Given the description of an element on the screen output the (x, y) to click on. 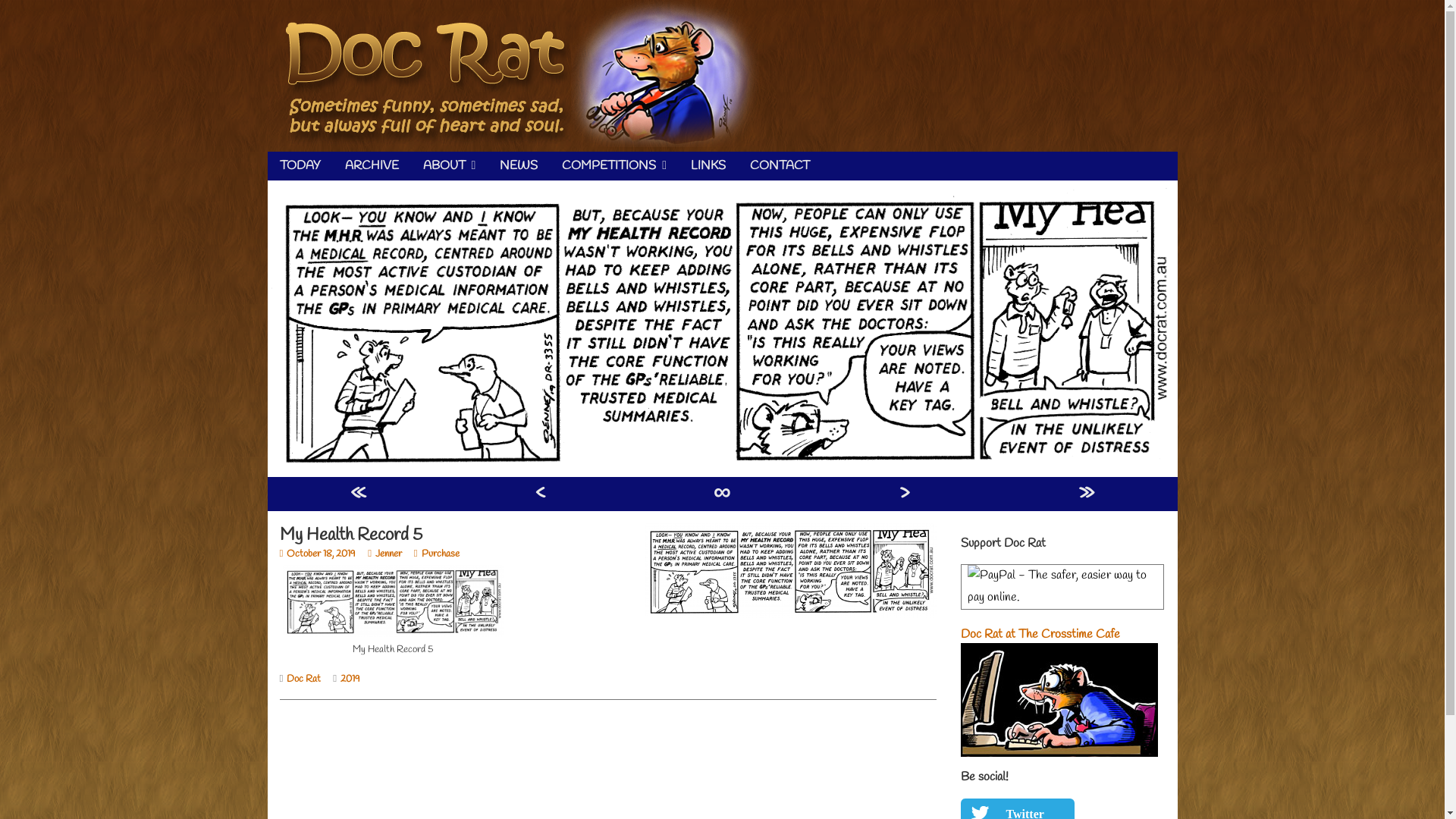
LINKS Element type: text (707, 165)
My Health Record 5 Element type: hover (721, 328)
Read more posts by the author of My Health Record 5,
Jenner Element type: text (384, 553)
TODAY Element type: text (299, 165)
NEWS Element type: text (518, 165)
Purchase Element type: text (436, 553)
My Health Record 5 Element type: hover (790, 570)
CONTACT Element type: text (779, 165)
Doc Rat at The Crosstime Cafe Element type: text (1058, 666)
Doc Rat Element type: text (303, 678)
2019 Element type: text (350, 678)
My Health Record 5 published on
October 18, 2019 Element type: text (317, 553)
ARCHIVE Element type: text (371, 165)
COMPETITIONS Element type: text (613, 165)
ABOUT Element type: text (449, 165)
